Given the description of an element on the screen output the (x, y) to click on. 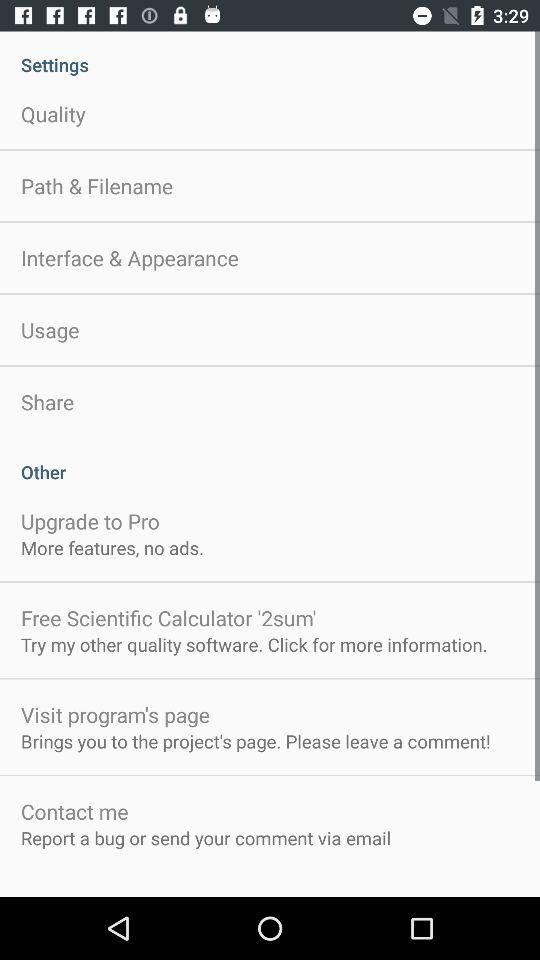
swipe until try my other icon (254, 644)
